Given the description of an element on the screen output the (x, y) to click on. 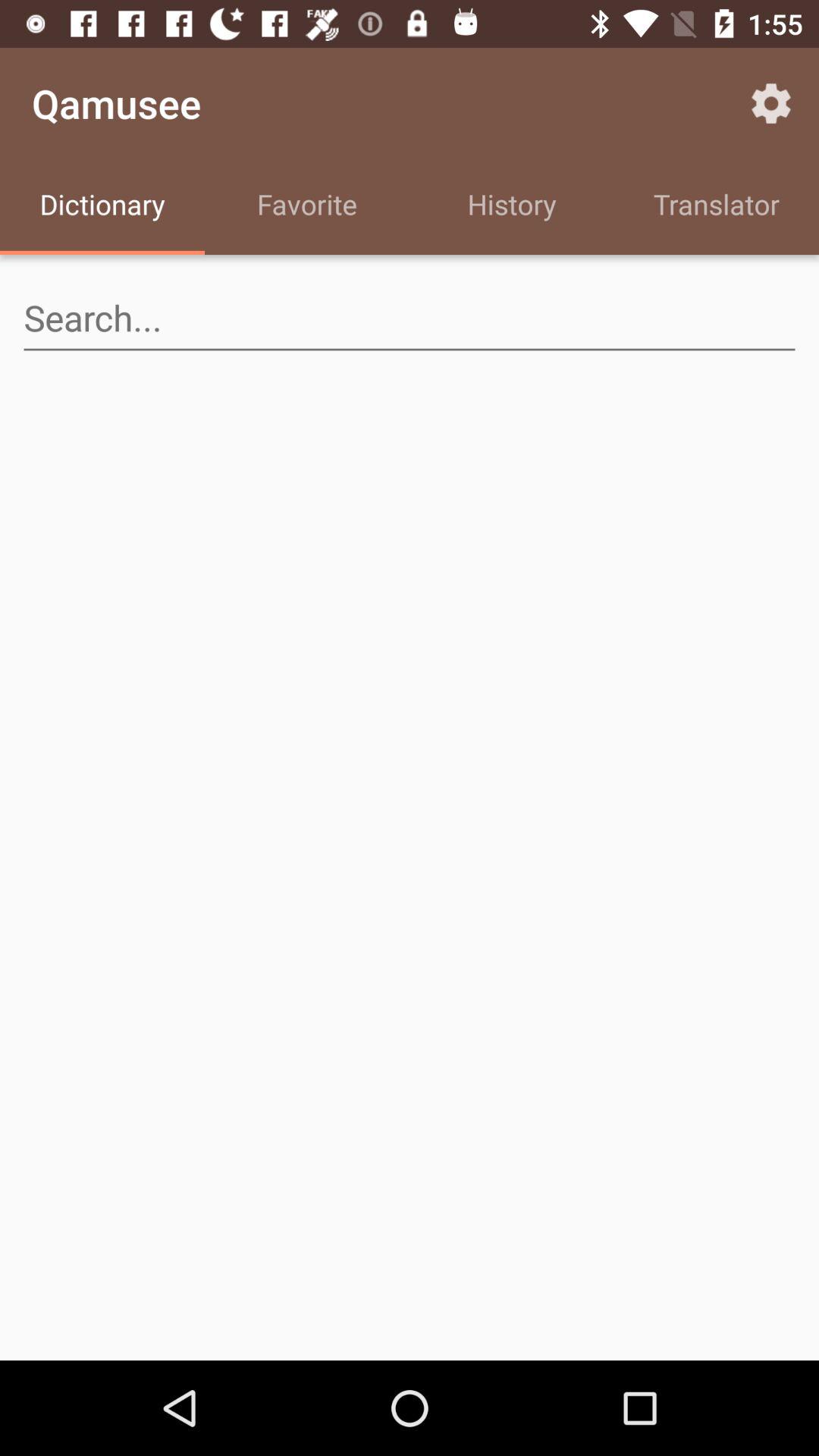
click icon to the right of the dictionary icon (306, 206)
